Given the description of an element on the screen output the (x, y) to click on. 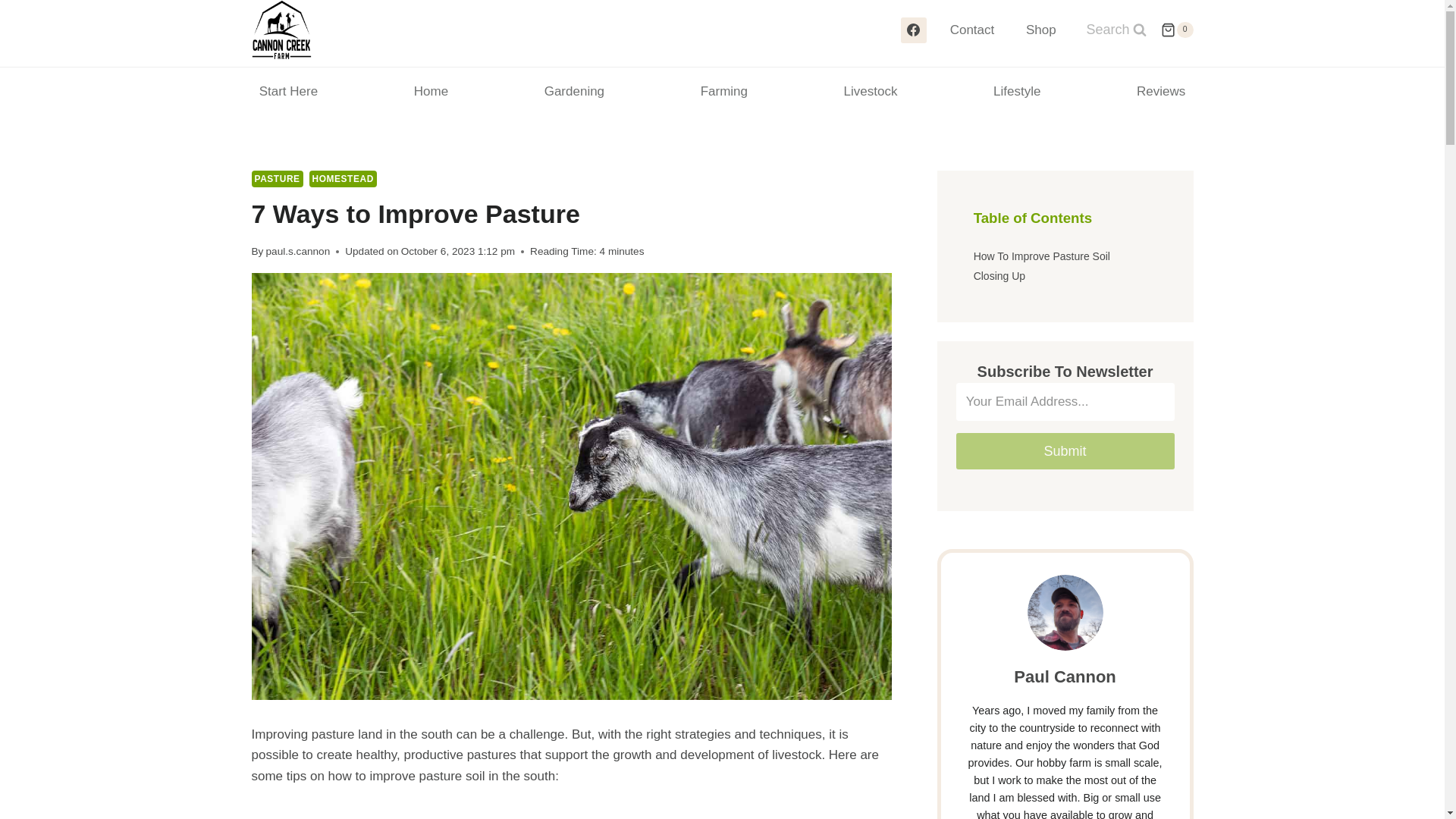
paul.s.cannon (298, 251)
Livestock (869, 91)
Reviews (1161, 91)
HOMESTEAD (342, 178)
Shop (1040, 30)
Farming (724, 91)
PASTURE (276, 178)
0 (1176, 30)
Contact (972, 30)
Start Here (288, 91)
